Given the description of an element on the screen output the (x, y) to click on. 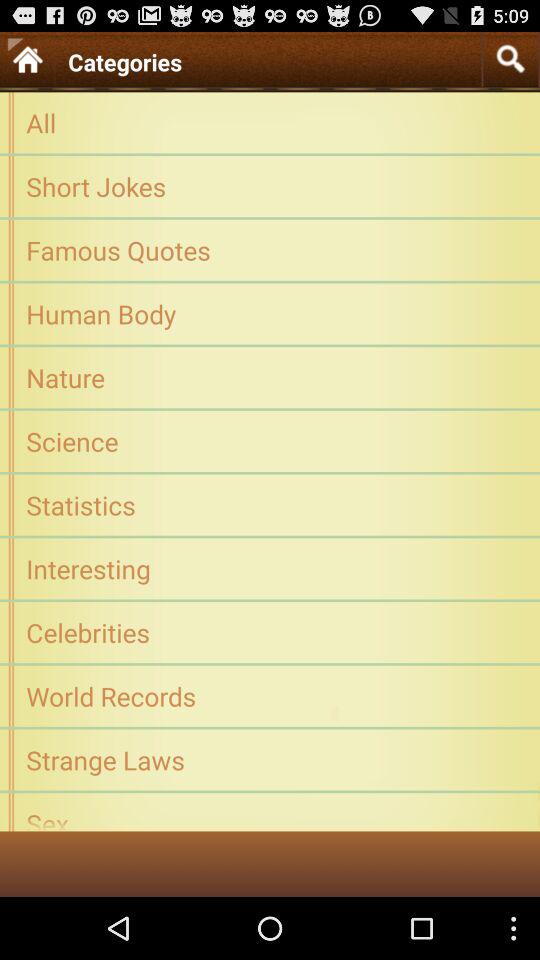
search (510, 58)
